Given the description of an element on the screen output the (x, y) to click on. 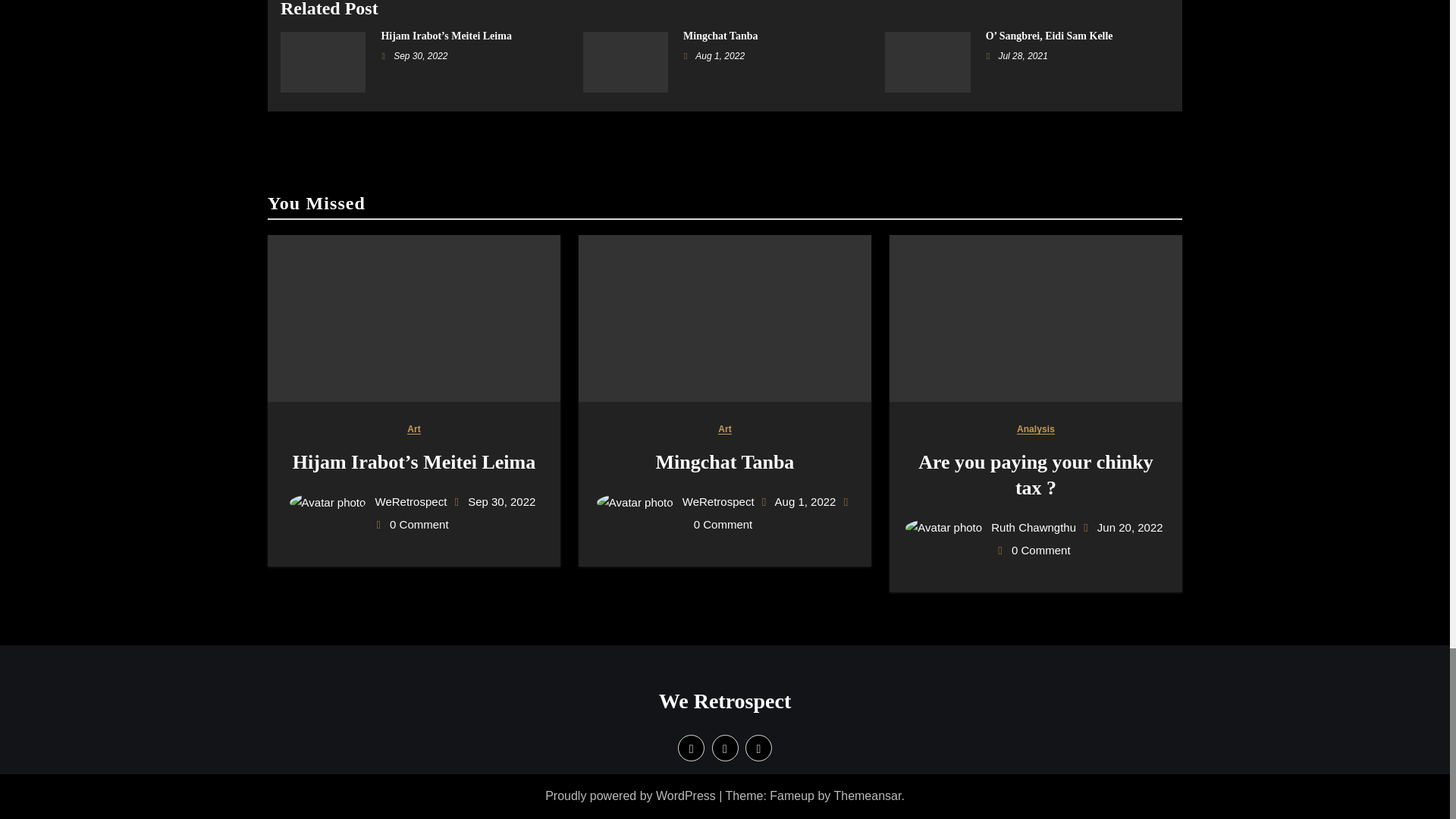
0 Comment (419, 523)
Permalink to: Mingchat Tanba (719, 35)
Sep 30, 2022 (419, 55)
Mingchat Tanba (719, 35)
Aug 1, 2022 (719, 55)
Permalink to: Are you paying your chinky tax ? (1035, 474)
WeRetrospect (368, 501)
Permalink to: Mingchat Tanba (725, 462)
Sep 30, 2022 (501, 501)
Art (413, 429)
